Given the description of an element on the screen output the (x, y) to click on. 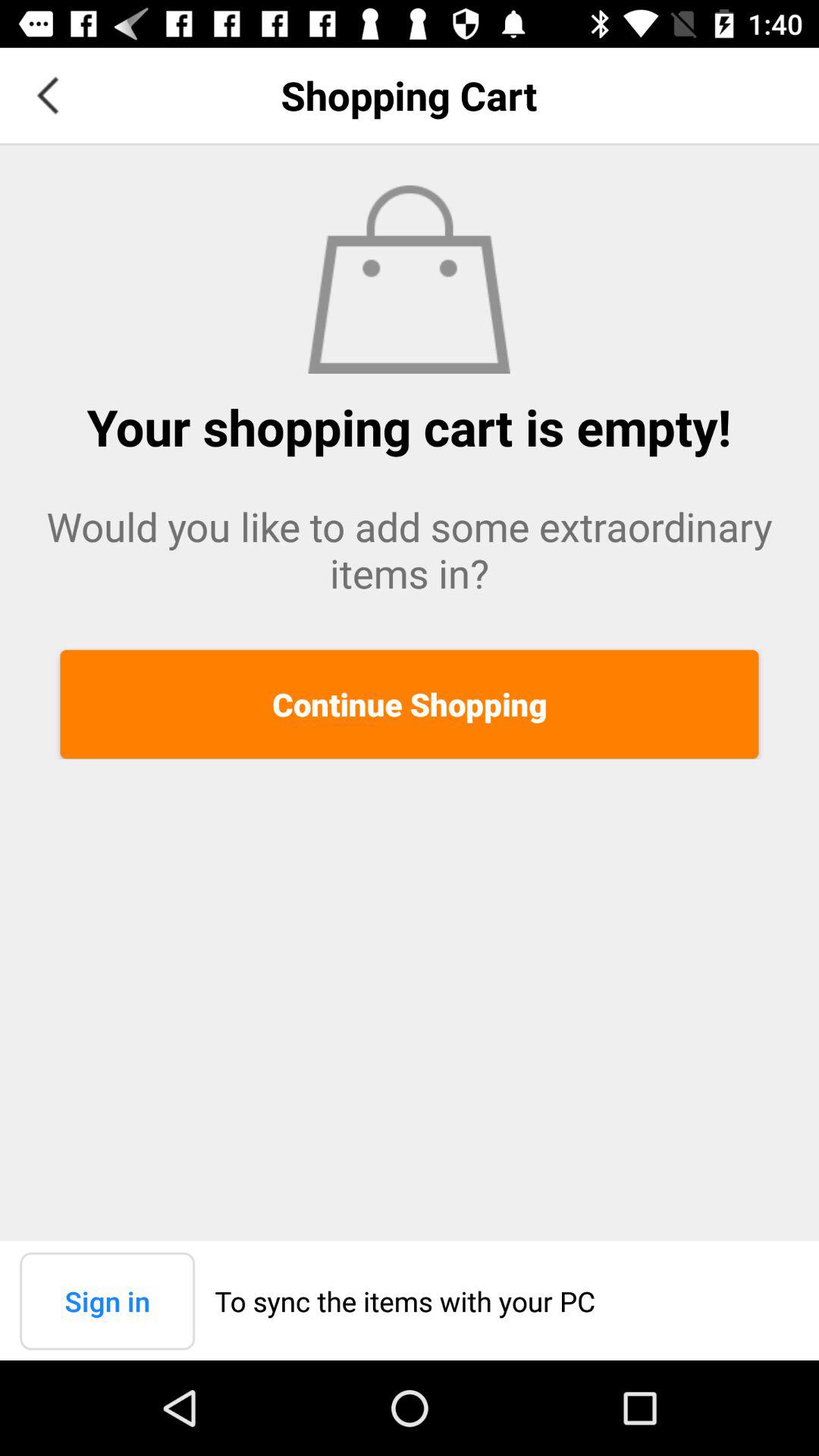
press icon below continue shopping icon (107, 1301)
